Given the description of an element on the screen output the (x, y) to click on. 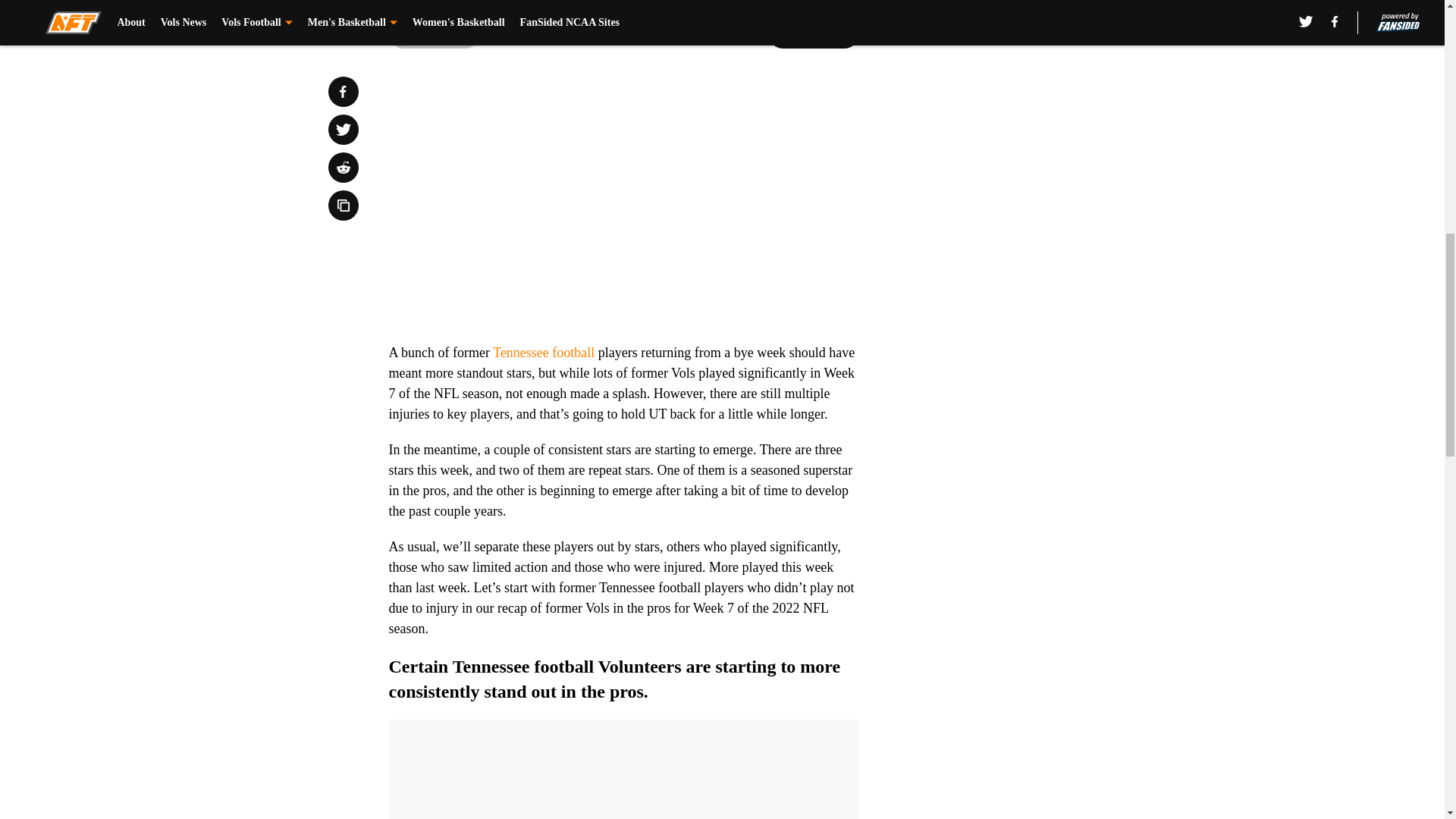
Next (813, 33)
Tennessee football (543, 352)
Prev (433, 33)
